Given the description of an element on the screen output the (x, y) to click on. 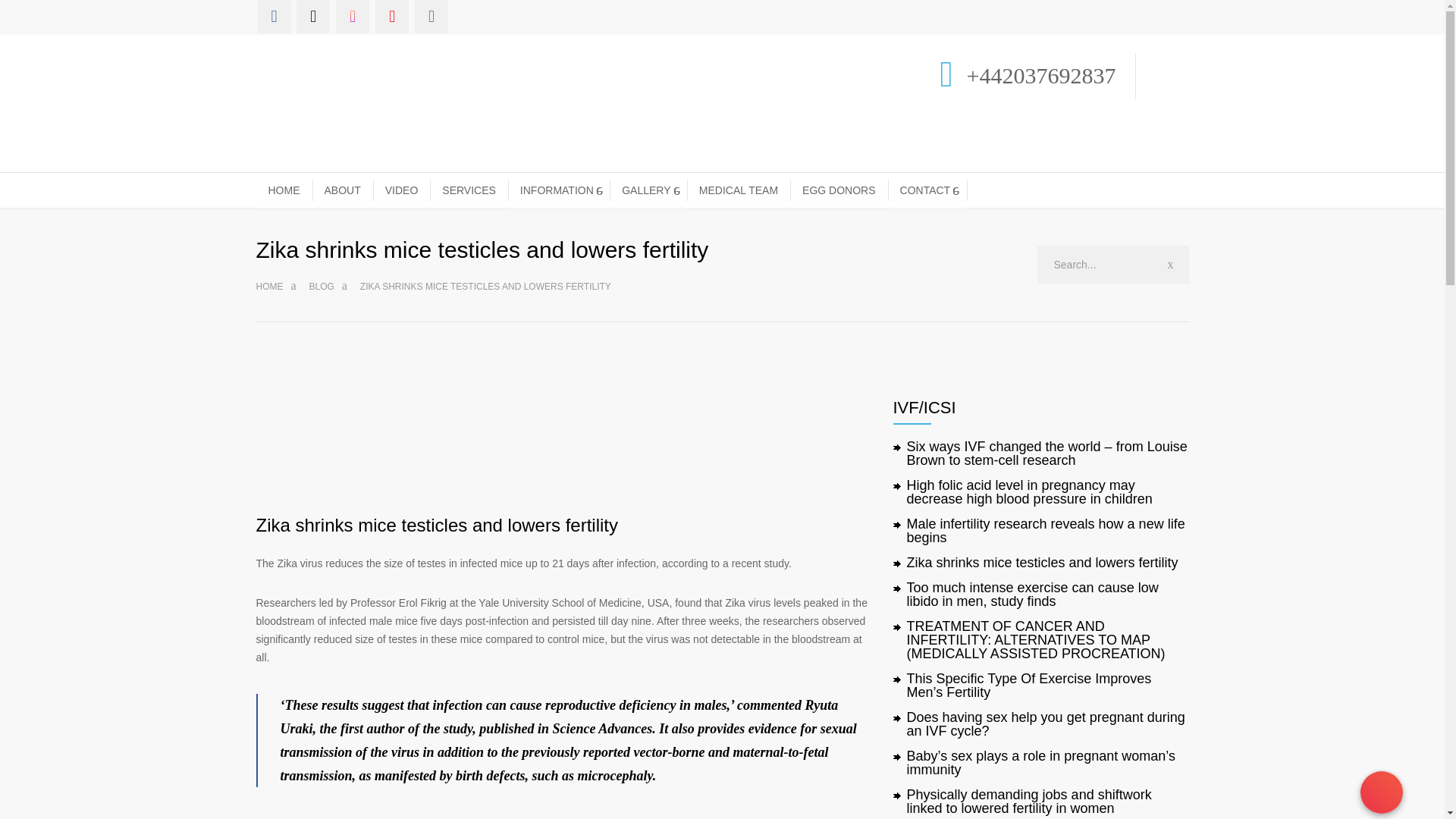
Search... (1112, 264)
HOME (284, 189)
SERVICES (468, 189)
VIDEO (401, 189)
GALLERY (648, 190)
Search... (1112, 264)
ABOUT (343, 189)
INFORMATION (559, 190)
